Given the description of an element on the screen output the (x, y) to click on. 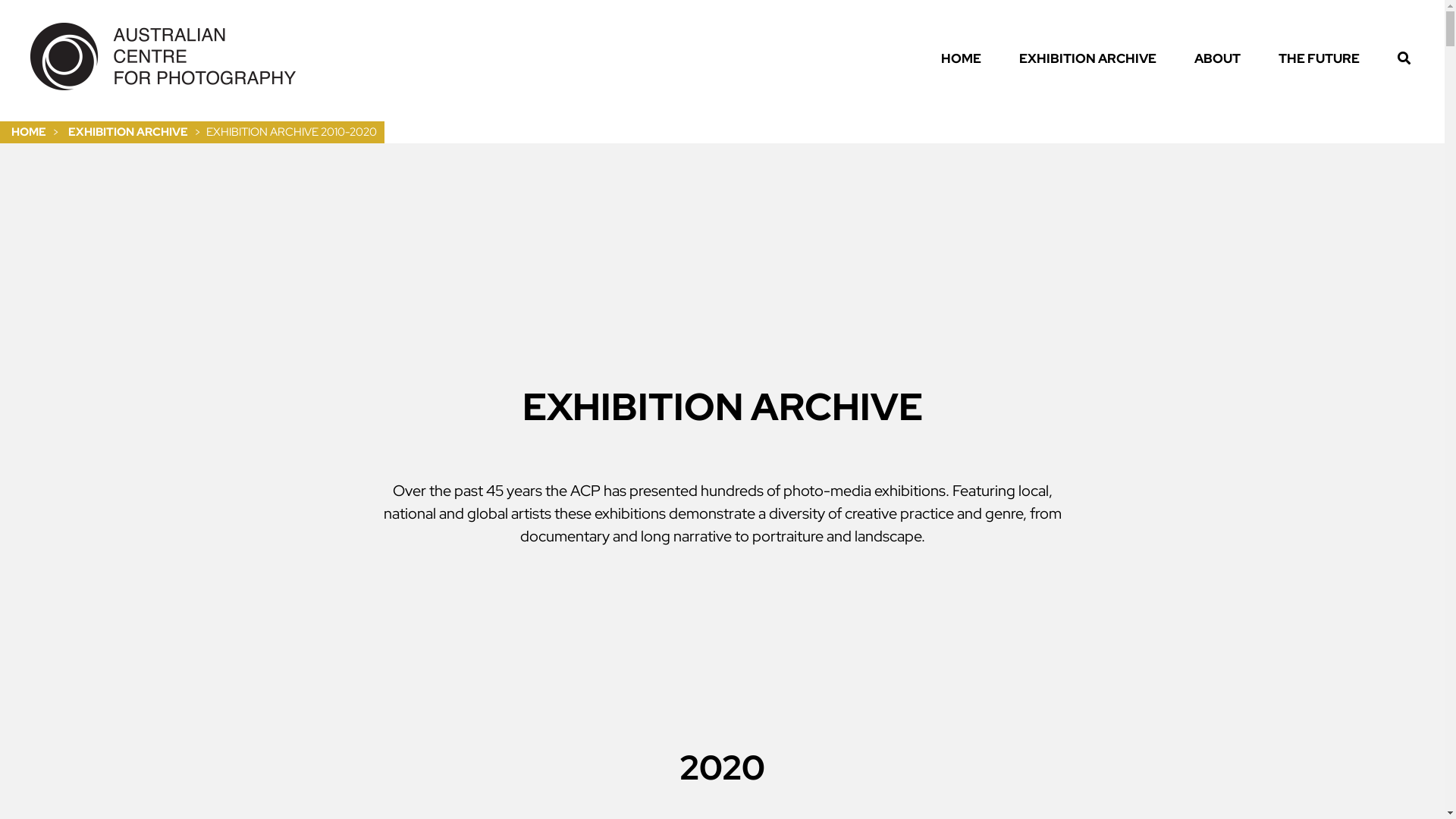
THE FUTURE Element type: text (1326, 58)
HOME Element type: text (28, 131)
EXHIBITION ARCHIVE Element type: text (1095, 58)
ABOUT Element type: text (1224, 58)
EXHIBITION ARCHIVE Element type: text (128, 131)
HOME Element type: text (968, 58)
